Given the description of an element on the screen output the (x, y) to click on. 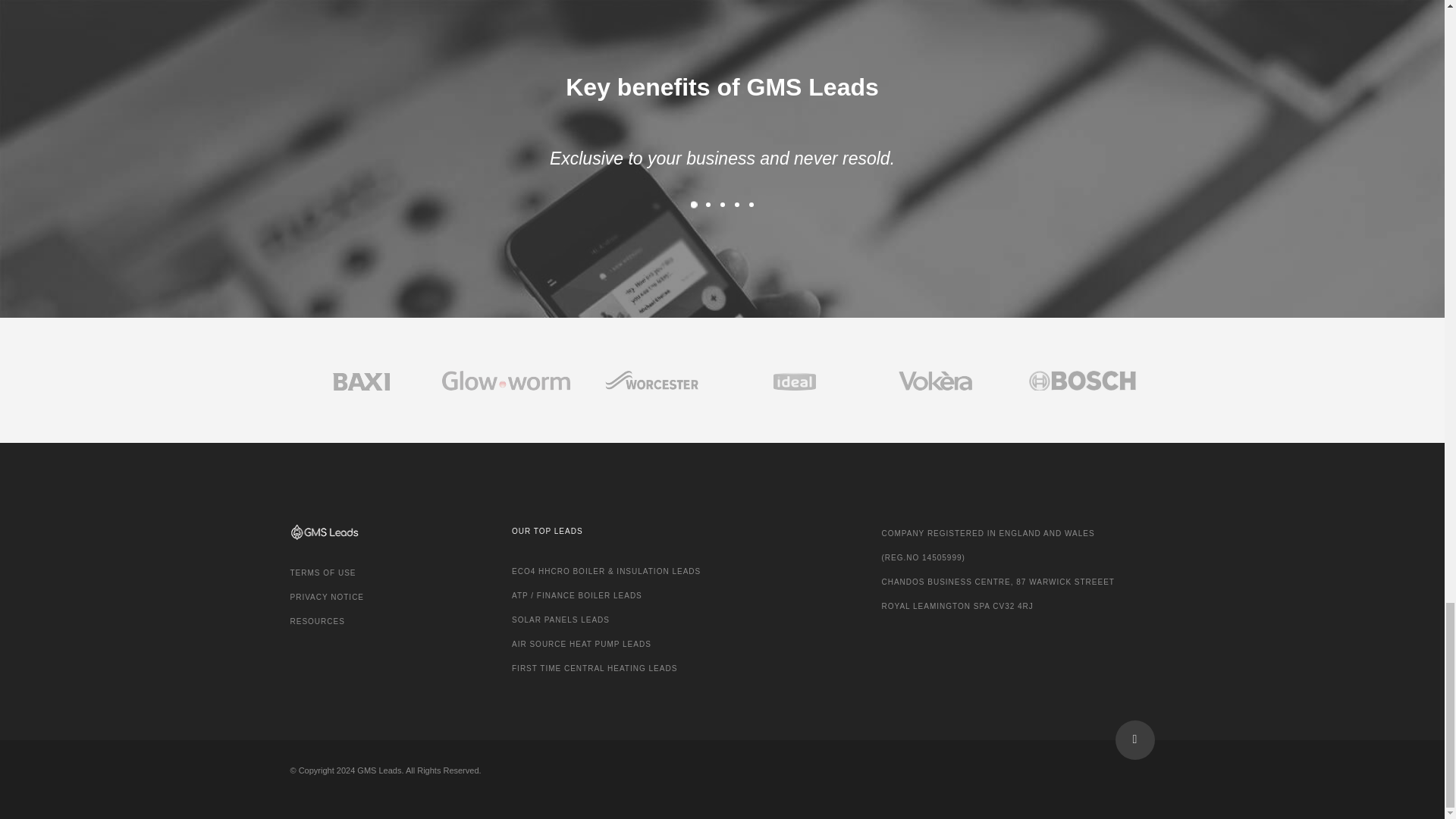
PRIVACY NOTICE (326, 596)
First Time Central Heating Leads (594, 668)
ROYAL LEAMINGTON SPA CV32 4RJ (956, 605)
ATP Finance ashp leads (581, 643)
ATP boiler Finance leads (577, 595)
exclusive green homes grant leads (326, 596)
Inbound lead generating (322, 572)
COMPANY REGISTERED IN ENGLAND AND WALES (987, 533)
AIR SOURCE HEAT PUMP LEADS (581, 643)
CHANDOS BUSINESS CENTRE, 87 WARWICK STREEET (997, 582)
